Given the description of an element on the screen output the (x, y) to click on. 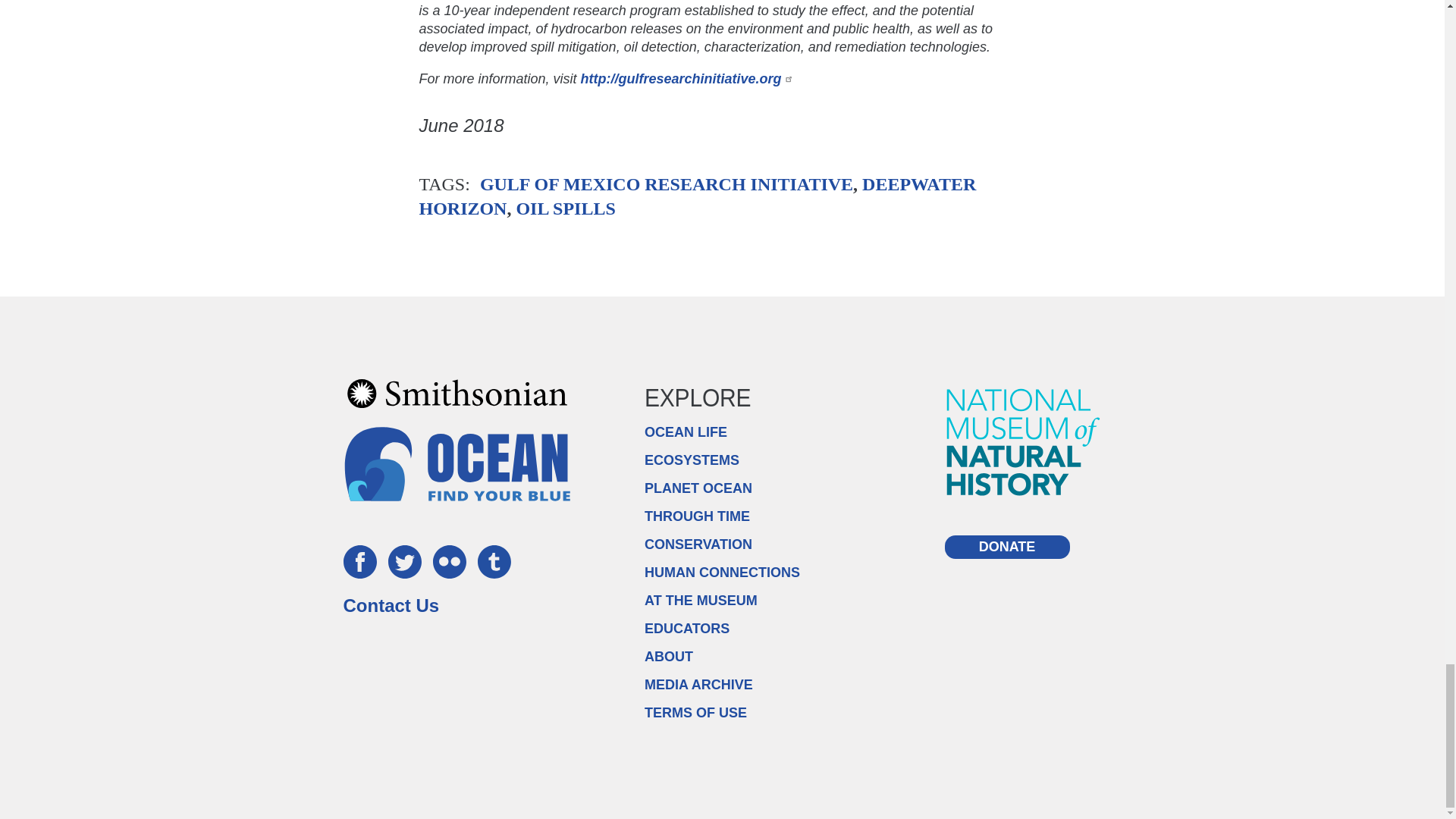
Smithsonian Ocean (456, 463)
Smithsonian Institution (456, 393)
Smithsonian National Museum of Natural History (1023, 441)
